Given the description of an element on the screen output the (x, y) to click on. 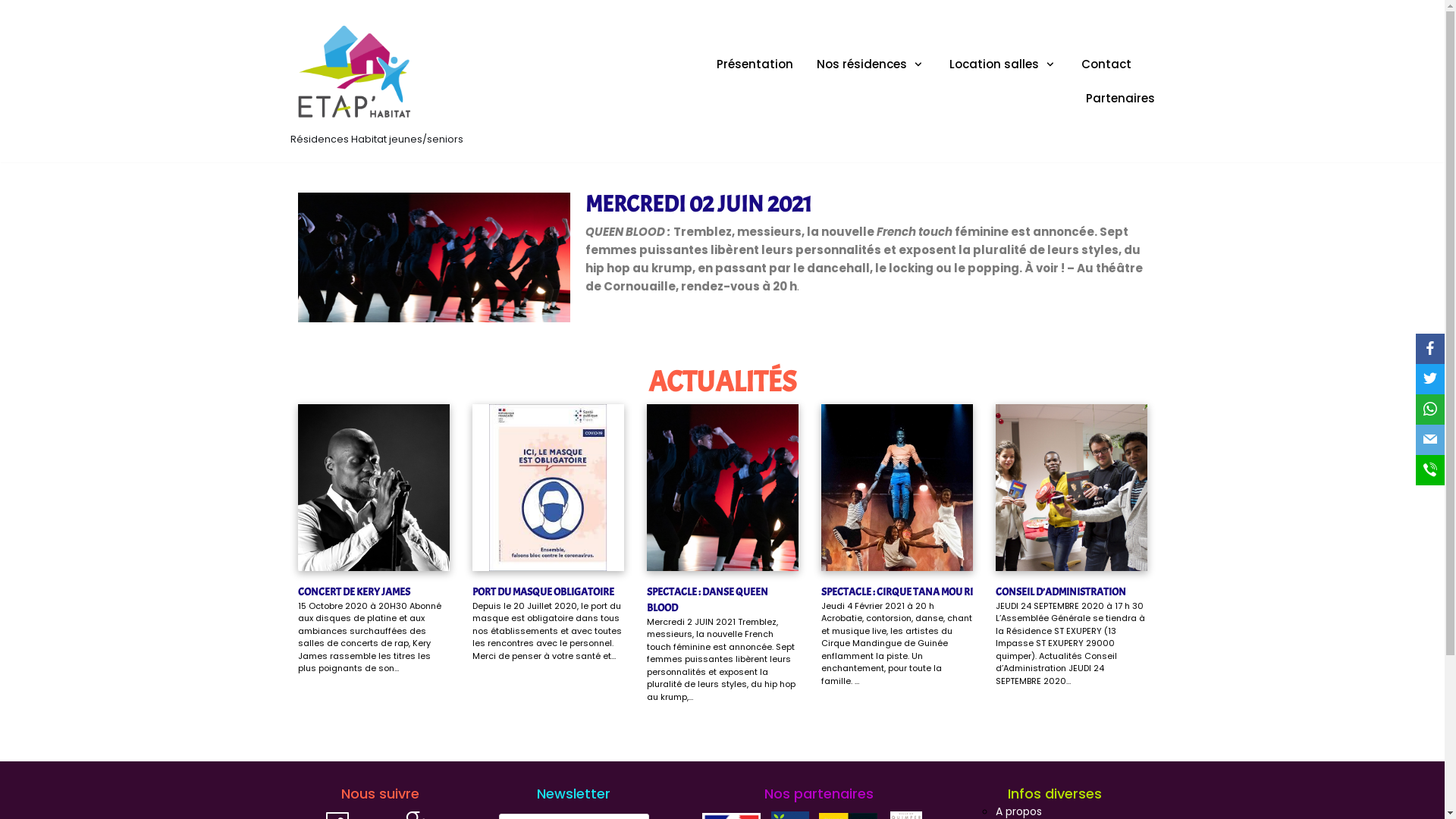
Contact Element type: text (1106, 63)
Aller au contenu Element type: text (15, 31)
SPECTACLE : DANSE QUEEN BLOOD Element type: text (706, 599)
CONCERT DE KERY JAMES Element type: text (353, 591)
Location salles Element type: text (1003, 63)
Partenaires Element type: text (1119, 97)
PORT DU MASQUE OBLIGATOIRE Element type: text (542, 591)
SPECTACLE : CIRQUE TANA MOU RI Element type: text (896, 591)
